Given the description of an element on the screen output the (x, y) to click on. 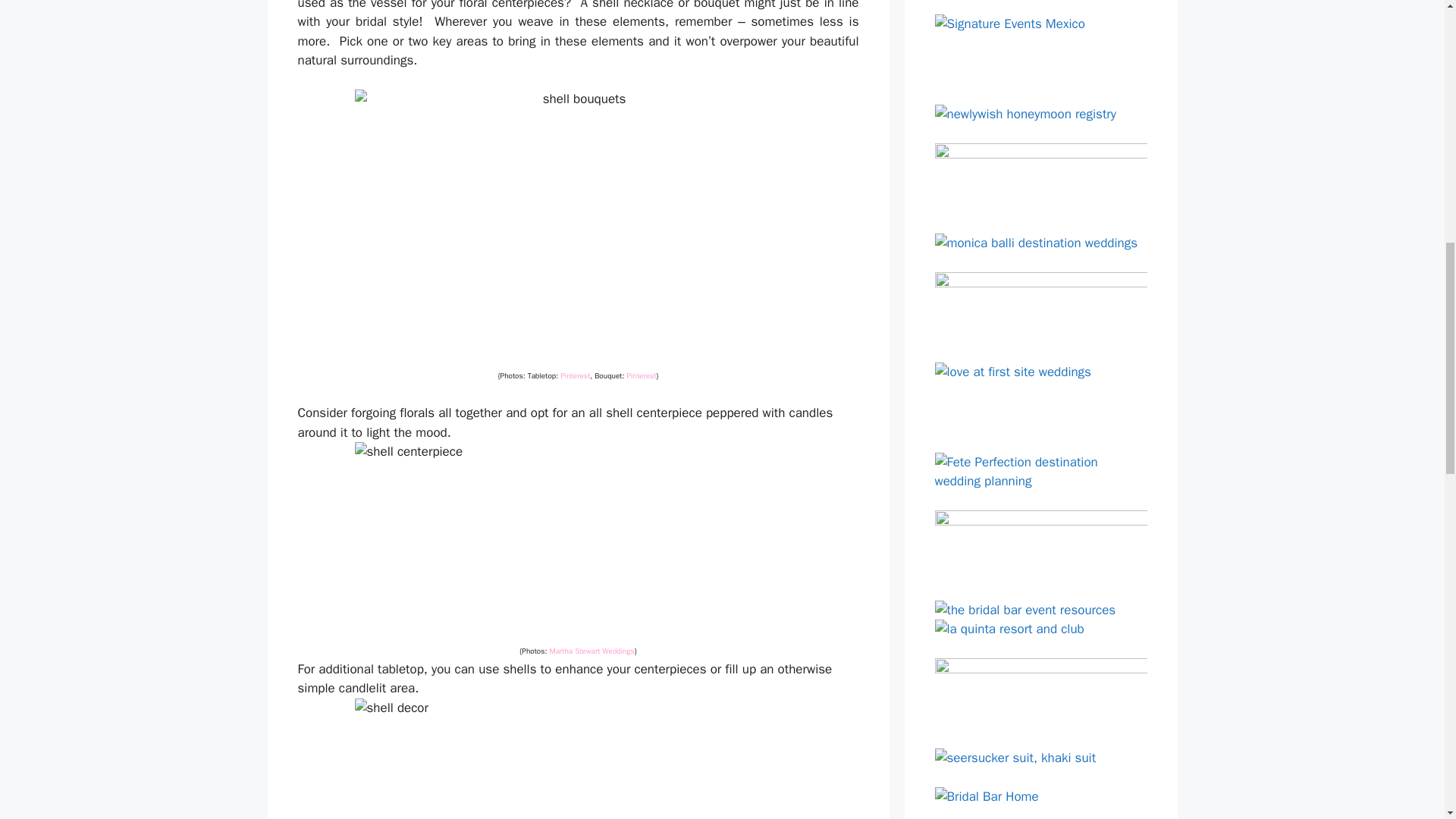
Signature Events Mexico (1040, 49)
Martha Stewart Weddings (590, 651)
Fete Perfection  (1040, 471)
shell decor (578, 758)
Bridal Bar logo 6 (1040, 178)
Pinterest (574, 375)
love at first site weddings (1040, 397)
Martha Stewart Weddings (590, 651)
shell centerpiece (578, 540)
Pinterest (641, 375)
shell bouquets (578, 226)
